Given the description of an element on the screen output the (x, y) to click on. 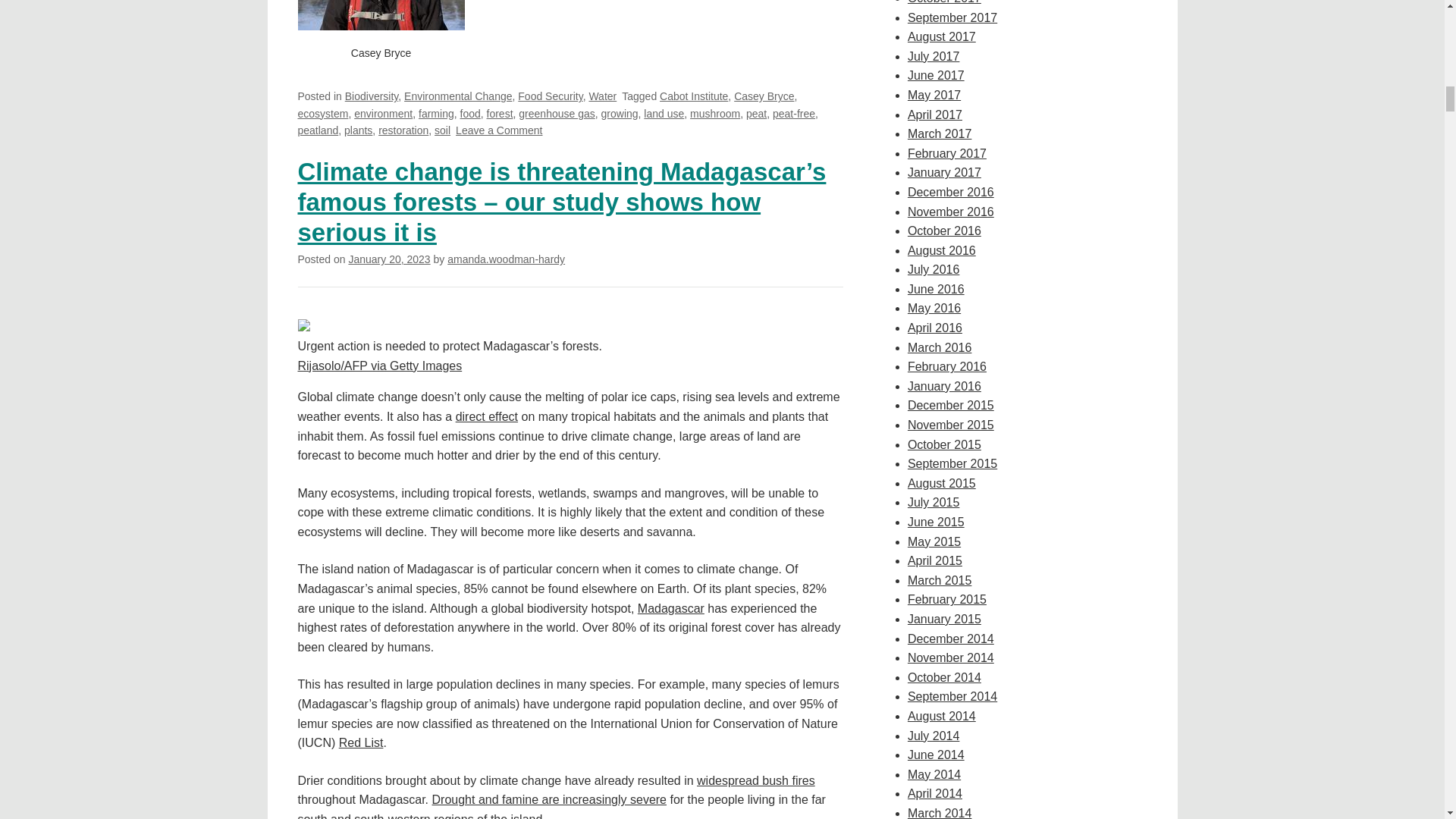
forest (499, 113)
Food Security (550, 96)
food (470, 113)
Environmental Change (458, 96)
Water (601, 96)
Casey Bryce (763, 96)
ecosystem (322, 113)
growing (620, 113)
land use (663, 113)
Biodiversity (371, 96)
greenhouse gas (556, 113)
Cabot Institute (693, 96)
environment (382, 113)
farming (436, 113)
